Given the description of an element on the screen output the (x, y) to click on. 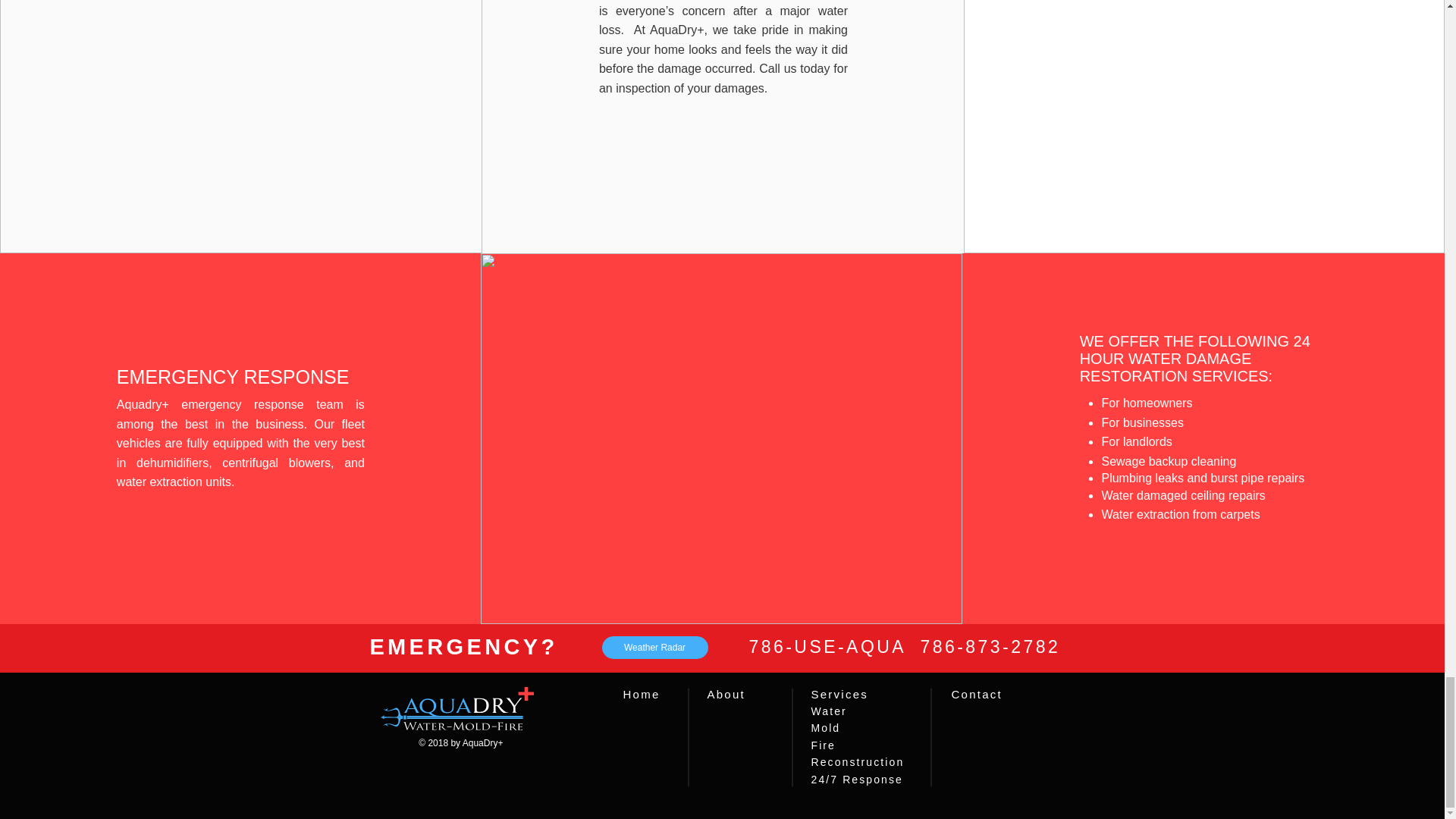
For businesses (1141, 422)
786-873-2782 (989, 646)
For homeowners (1146, 402)
Fire (822, 745)
Contact (975, 694)
Water damaged ceiling repairs (1182, 495)
For landlords (1136, 440)
Mold (825, 727)
Home (642, 694)
Reconstruction (857, 761)
